Given the description of an element on the screen output the (x, y) to click on. 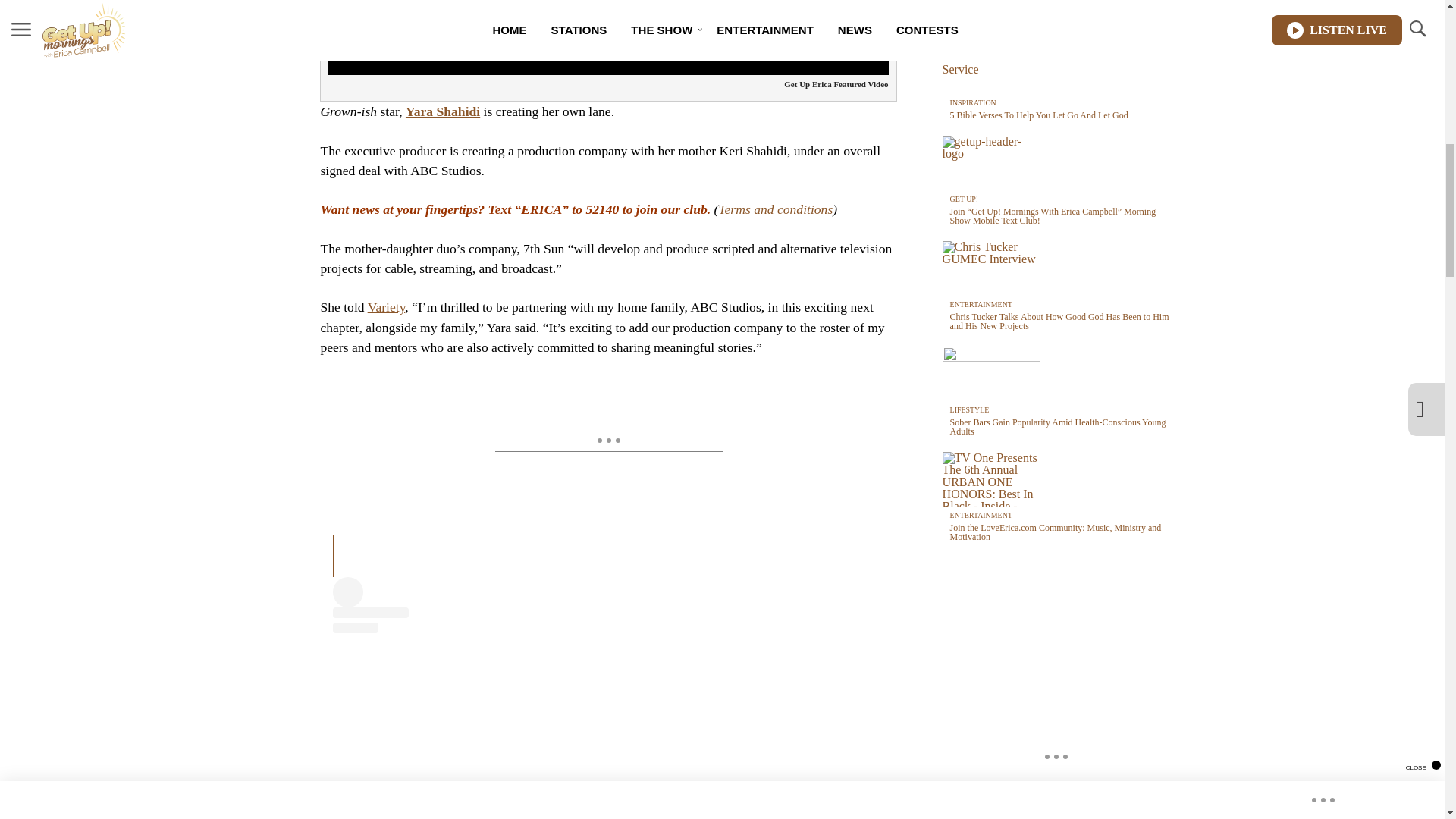
Yara Shahidi (443, 111)
Terms and conditions (774, 209)
Variety (387, 306)
